Given the description of an element on the screen output the (x, y) to click on. 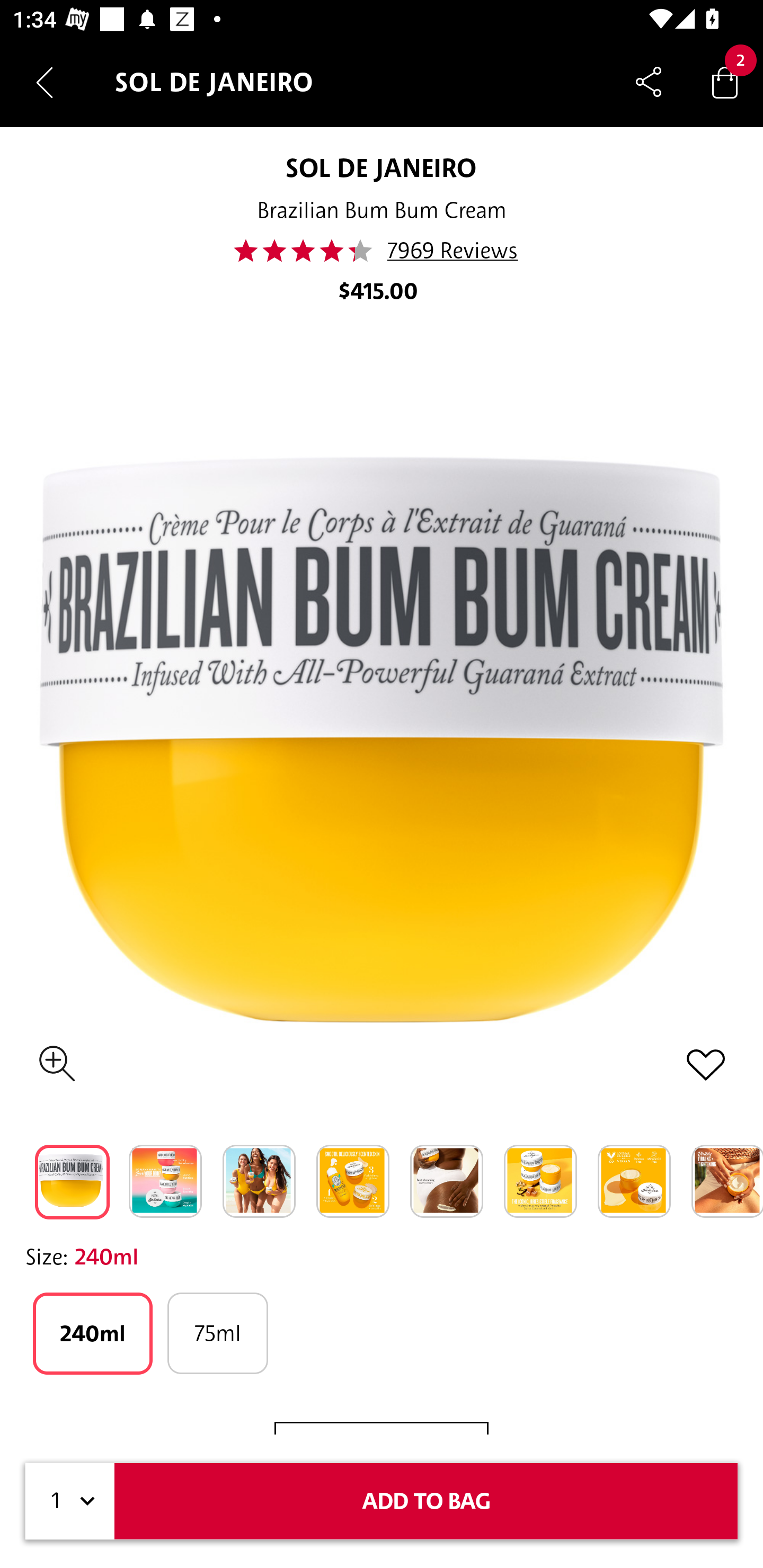
Navigate up (44, 82)
Share (648, 81)
Bag (724, 81)
SOL DE JANEIRO (380, 167)
43.0 7969 Reviews (381, 250)
240ml (92, 1333)
75ml (217, 1332)
1 (69, 1500)
ADD TO BAG (425, 1500)
